Given the description of an element on the screen output the (x, y) to click on. 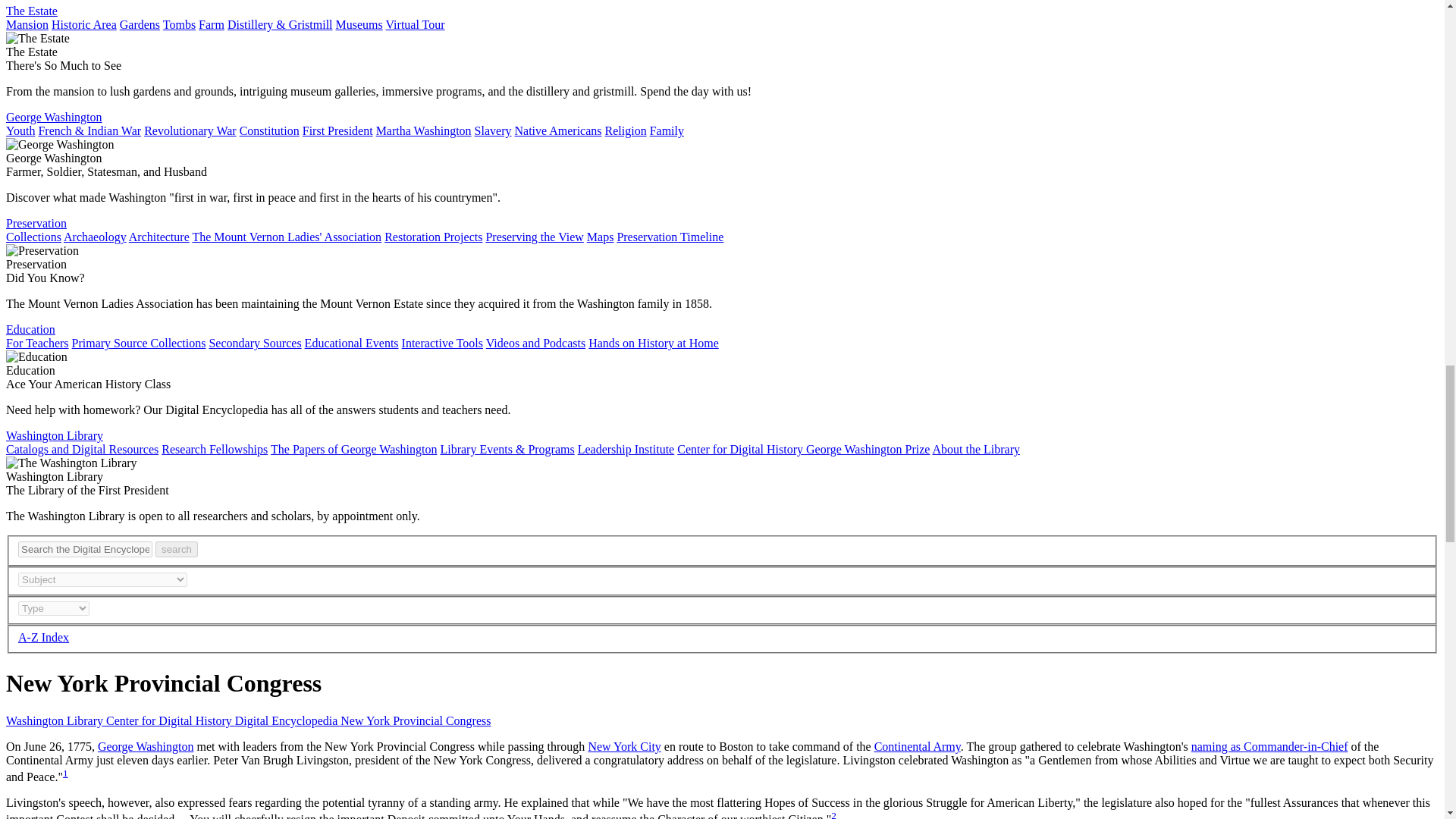
Mansion (26, 24)
search (176, 549)
The Mount Vernon Estate (31, 10)
